Given the description of an element on the screen output the (x, y) to click on. 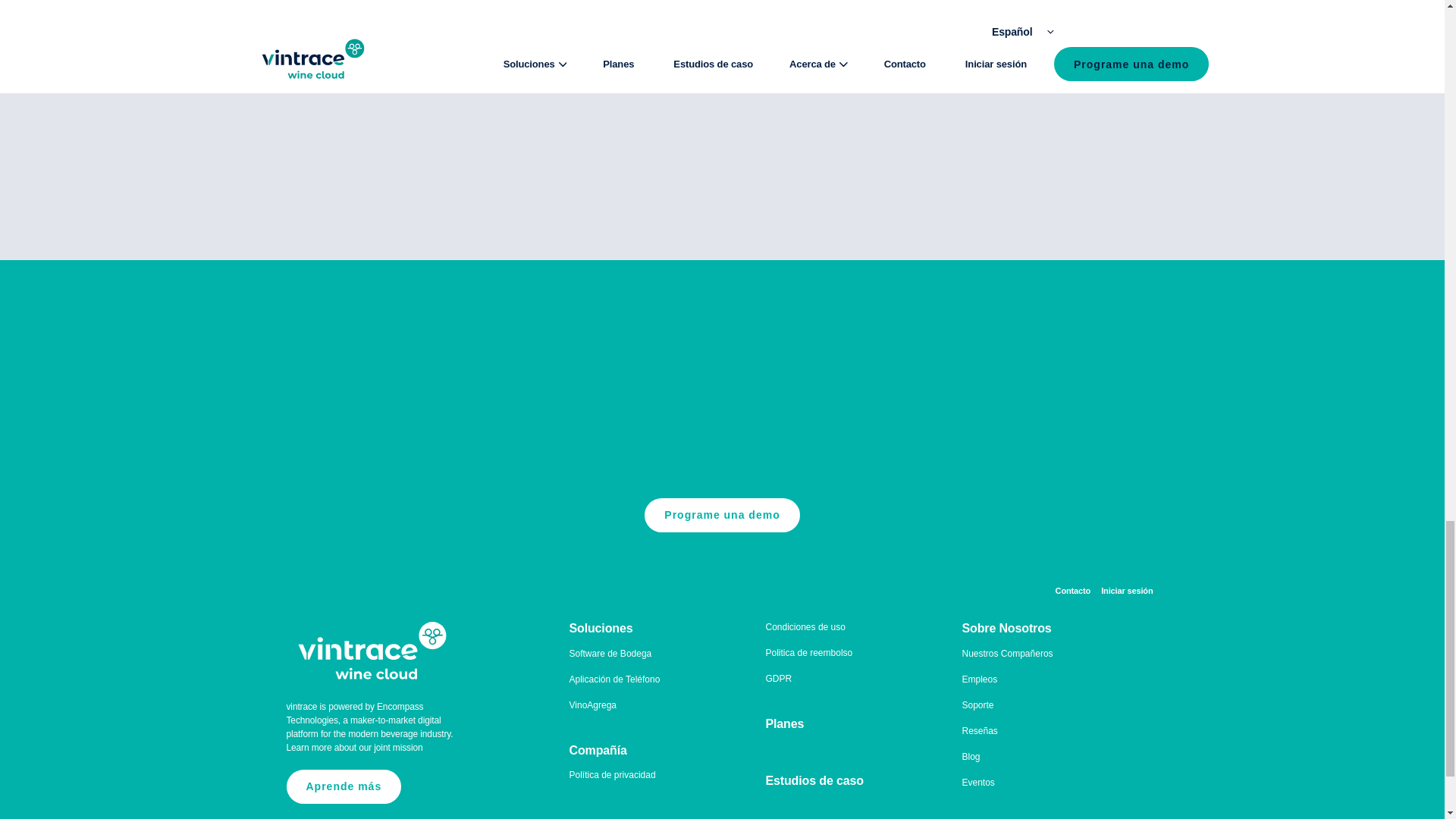
Empleos (978, 679)
Politica de reembolso (809, 652)
Soporte (976, 705)
Estudios de caso (814, 780)
Planes (785, 723)
Software de Bodega (609, 653)
Sobre Nosotros (1005, 627)
Blog (969, 756)
Programe una demo (722, 514)
GDPR (778, 678)
Eventos (977, 782)
VinoAgrega (592, 705)
Contacto (1072, 591)
Condiciones de uso (805, 626)
